Given the description of an element on the screen output the (x, y) to click on. 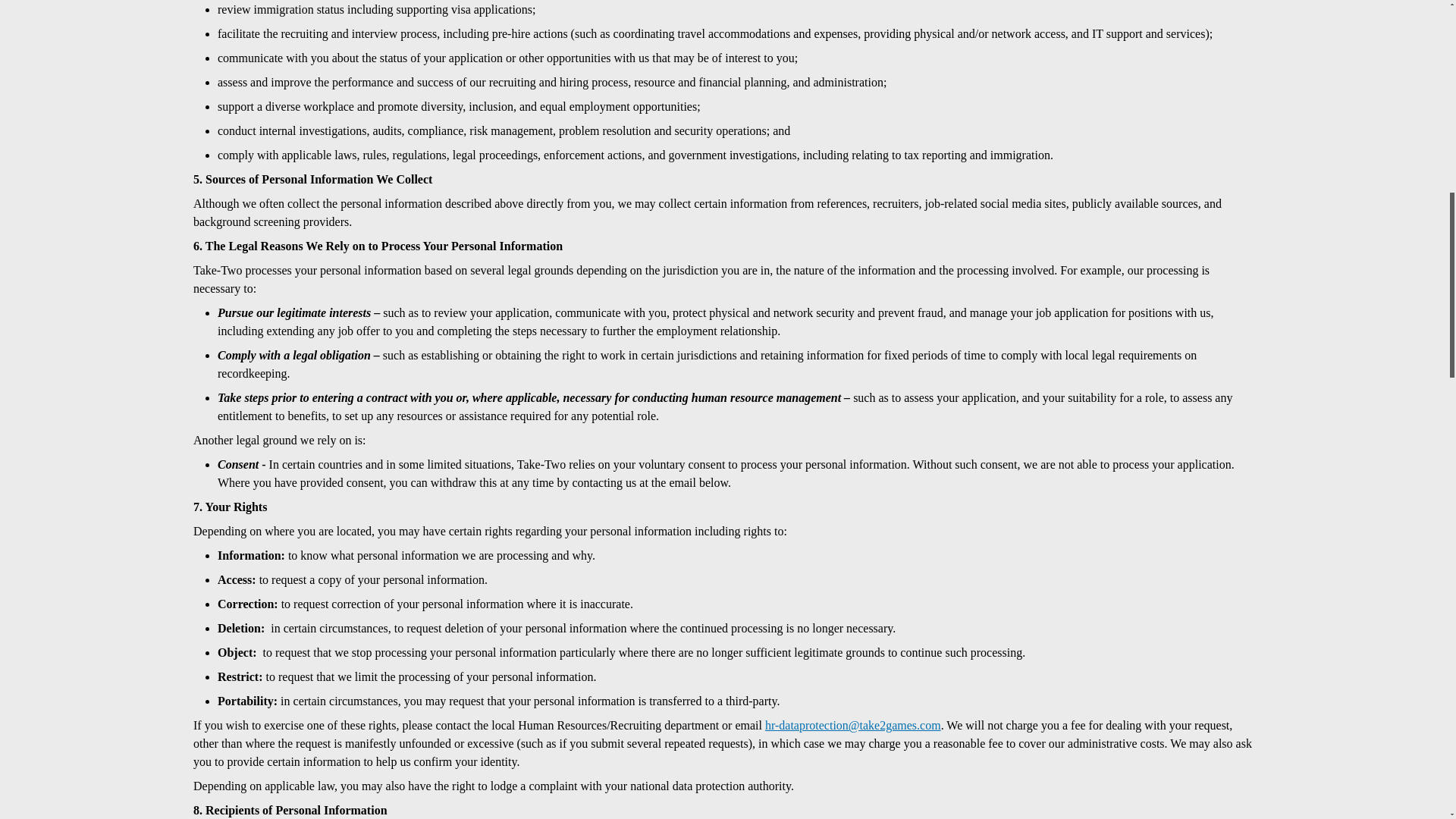
Back to top (1423, 36)
